Given the description of an element on the screen output the (x, y) to click on. 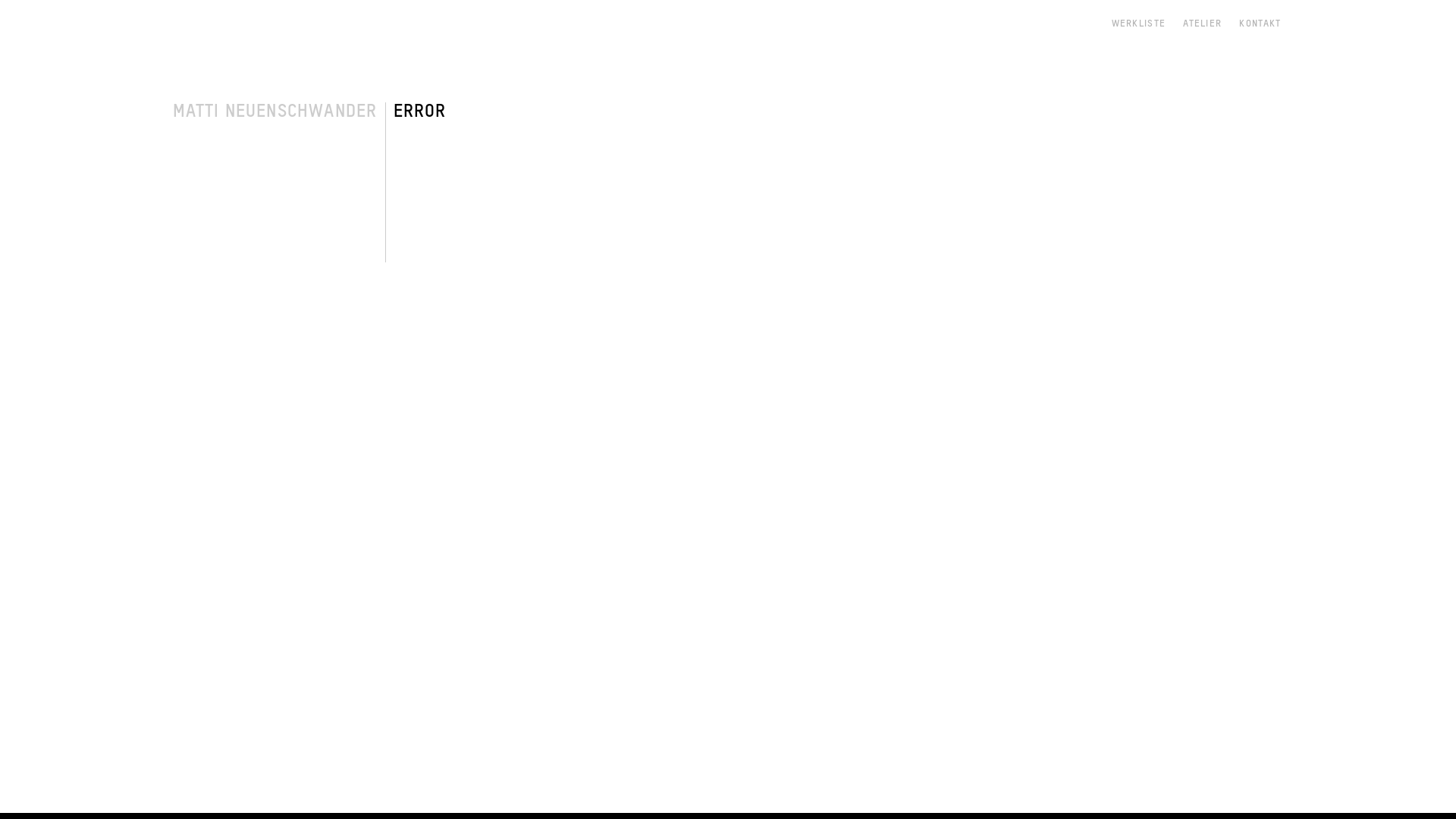
ATELIER Element type: text (1202, 23)
WERKLISTE Element type: text (1138, 23)
MATTI NEUENSCHWANDER Element type: text (274, 111)
KONTAKT Element type: text (1259, 23)
